Given the description of an element on the screen output the (x, y) to click on. 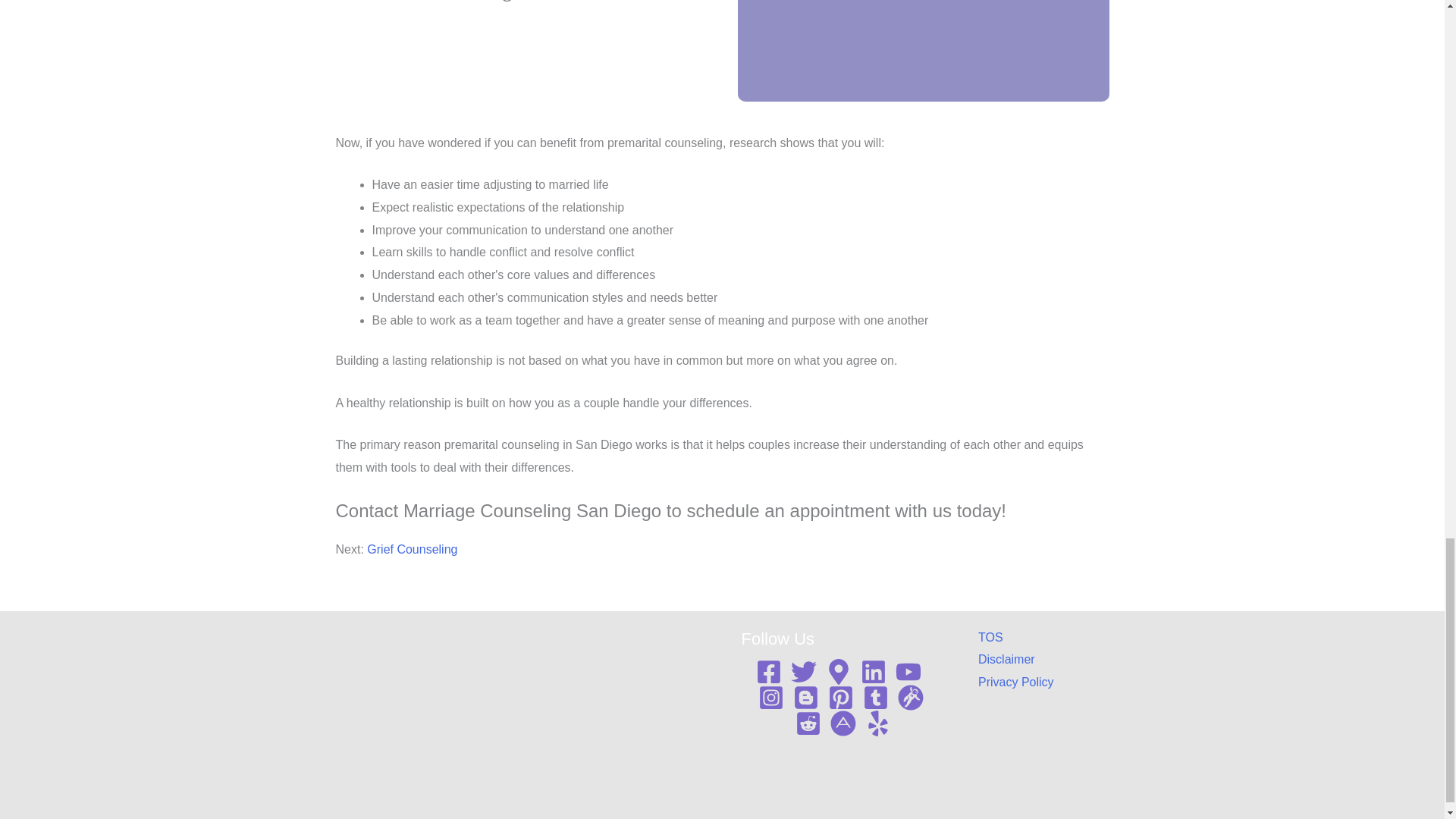
Grief Counseling (411, 549)
Premarital Counseling Benefits San Diego CA 92104 (922, 50)
